Given the description of an element on the screen output the (x, y) to click on. 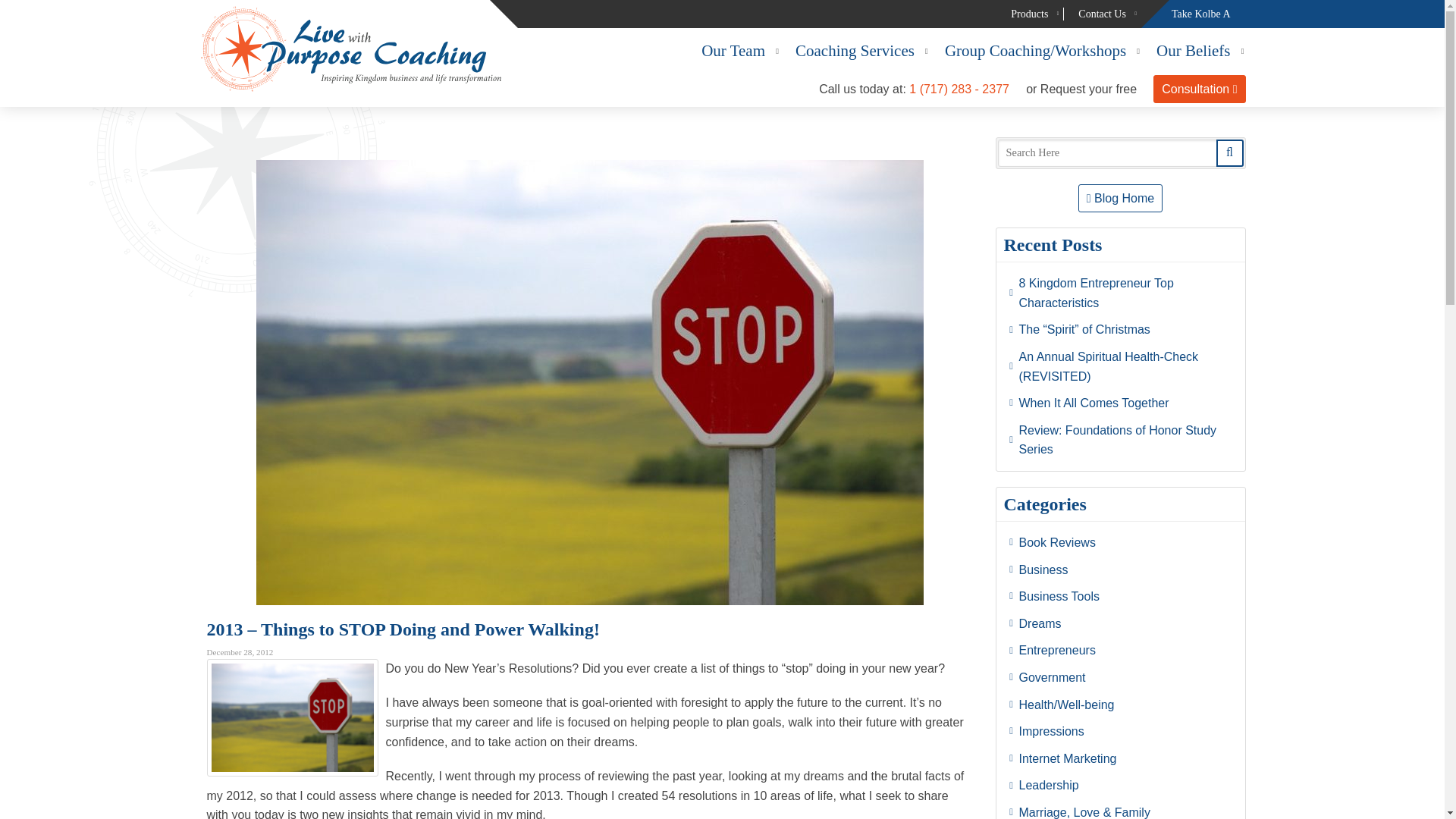
Contact Us (1101, 13)
Take Kolbe A (1201, 13)
Internet marketing insights and wisdom from the experts (1120, 759)
Live with Purpose Coaching (350, 49)
You need to be READY to love well (291, 717)
Coaching Services (855, 51)
Our Beliefs (1192, 51)
Our Team (732, 51)
Products (1028, 13)
